Given the description of an element on the screen output the (x, y) to click on. 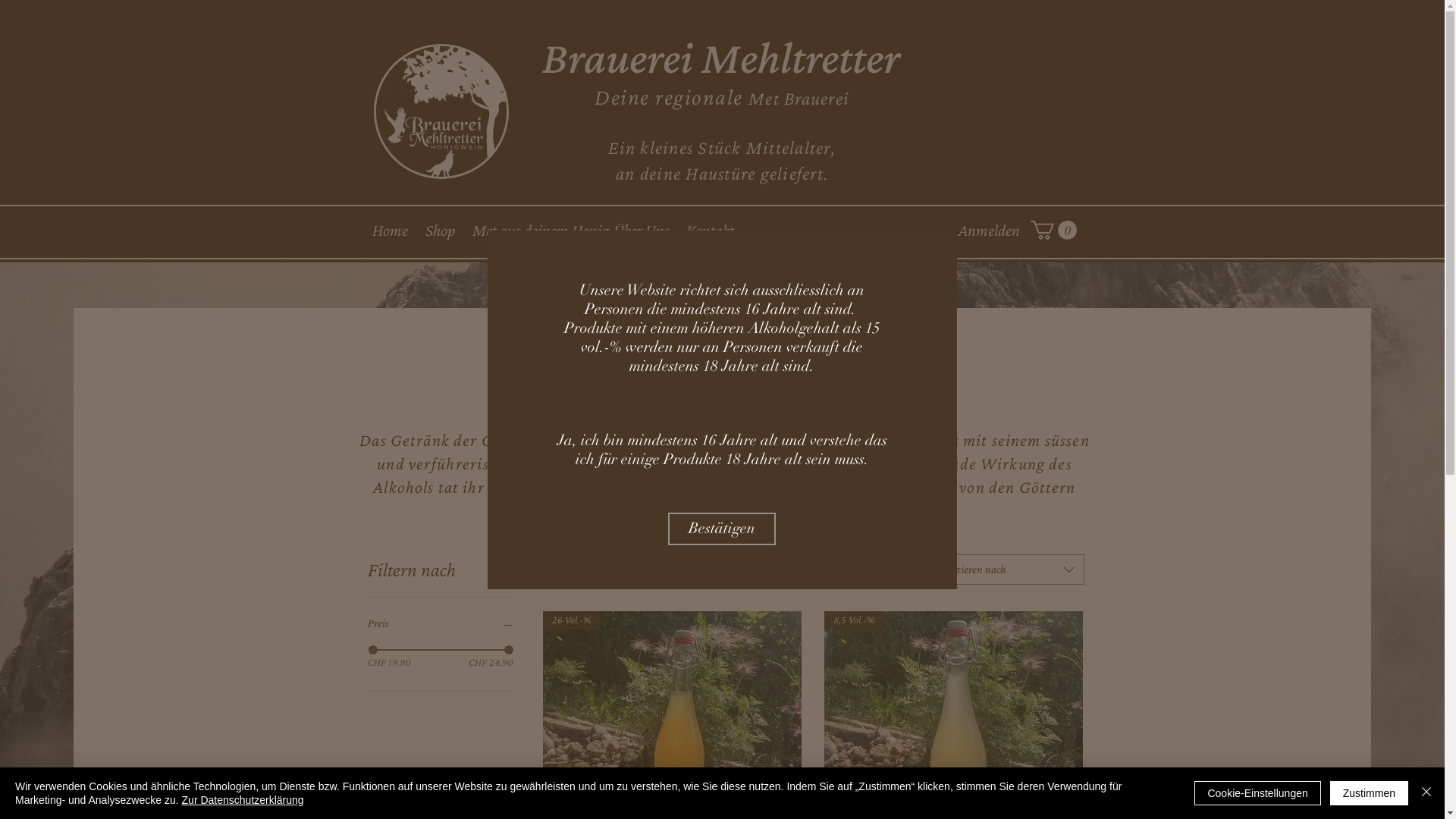
Sortieren nach Element type: text (1008, 569)
Anmelden Element type: text (988, 230)
Zustimmen Element type: text (1369, 793)
Met aus deinem Honig Element type: text (540, 230)
Cookie-Einstellungen Element type: text (1257, 793)
Deine regionale Element type: text (671, 96)
Met Brauerei Element type: text (798, 97)
Home Element type: text (389, 230)
Brauerei Mehltretter Element type: text (721, 57)
Kontakt Element type: text (709, 230)
0 Element type: text (1052, 229)
Preis Element type: text (440, 622)
Shop Element type: text (439, 230)
